Given the description of an element on the screen output the (x, y) to click on. 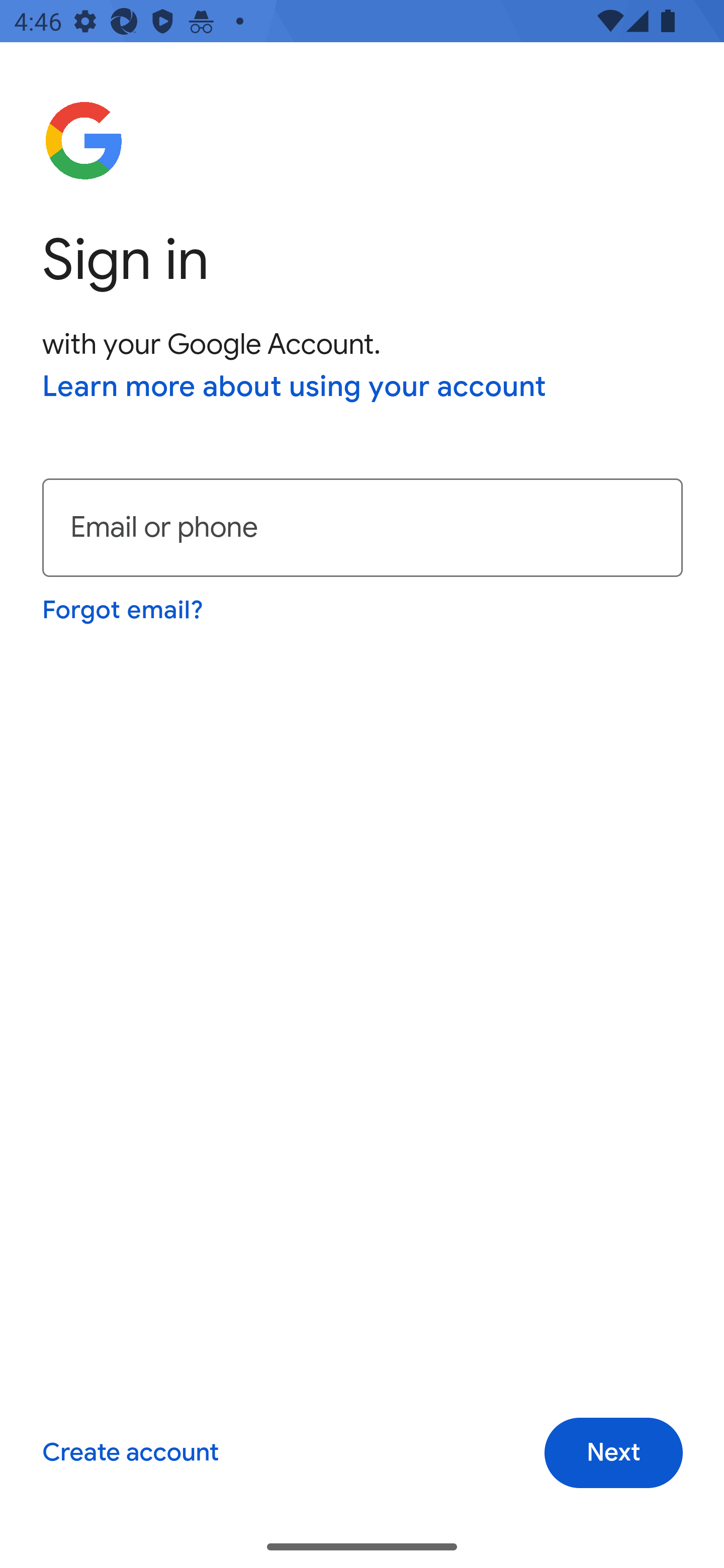
Learn more about using your account (294, 388)
Forgot email? (123, 609)
Next (613, 1453)
Create account (129, 1453)
